Given the description of an element on the screen output the (x, y) to click on. 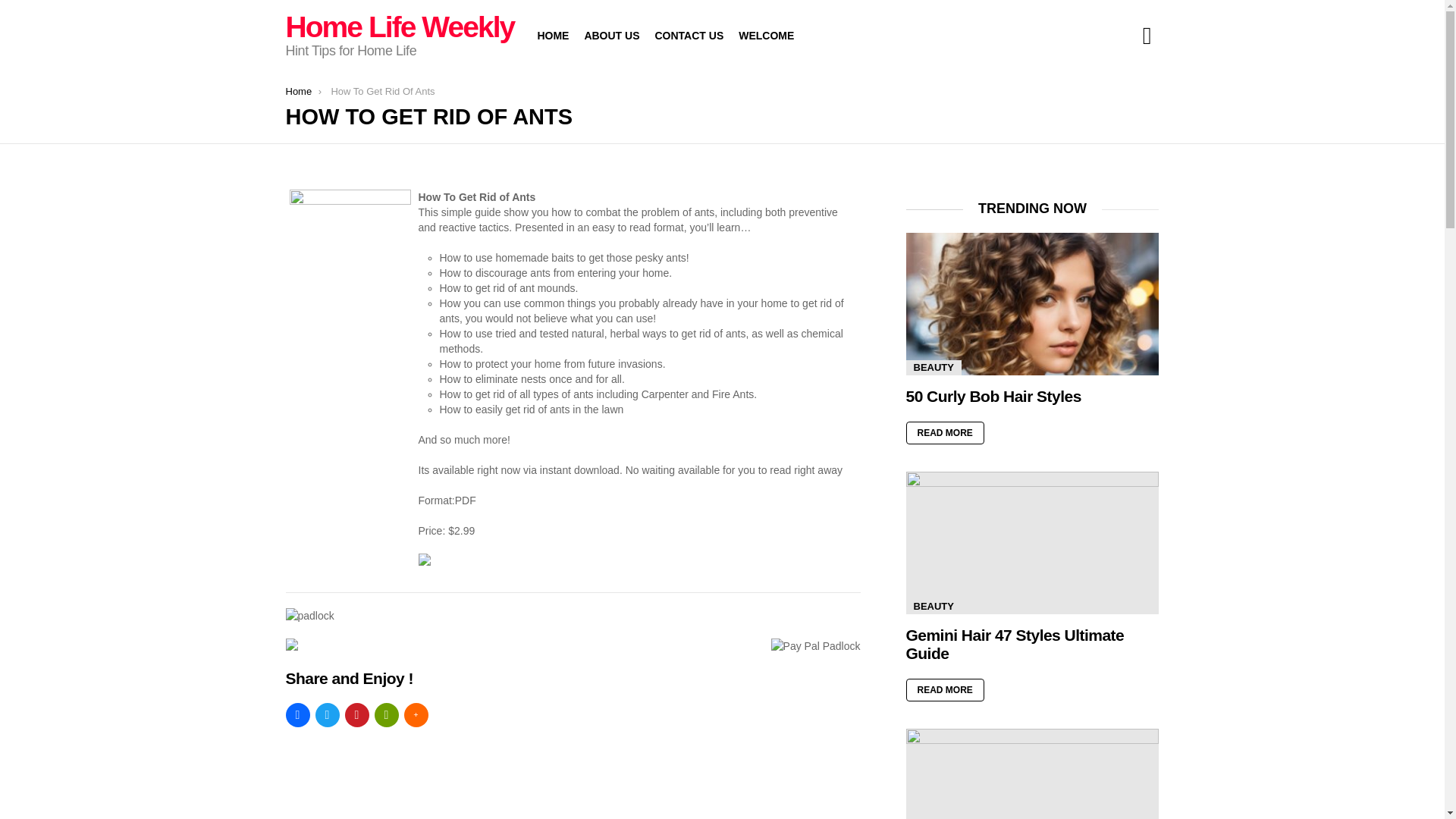
Gemini Hair 47 Styles Ultimate Guide (1014, 643)
Home Life Weekly (399, 26)
READ MORE (944, 432)
Print this article  (386, 714)
Tweet this ! (327, 714)
50 Curly Bob Hair Styles (1031, 303)
30 Day Stress Relief Journal Prompts (1031, 773)
Submit this to Pinterest (355, 714)
Home (298, 91)
BEAUTY (932, 367)
